Given the description of an element on the screen output the (x, y) to click on. 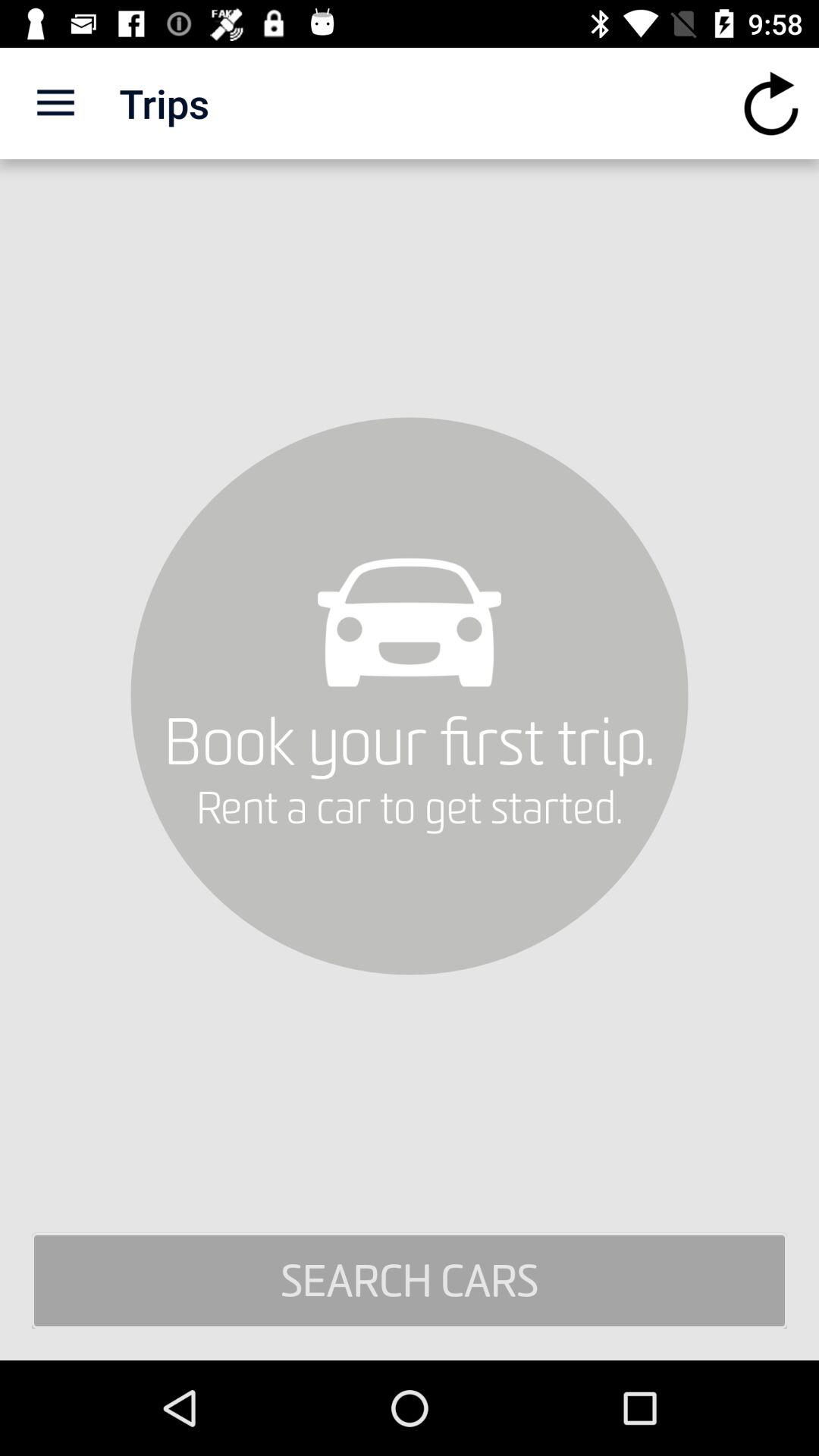
press icon at the top right corner (771, 103)
